Given the description of an element on the screen output the (x, y) to click on. 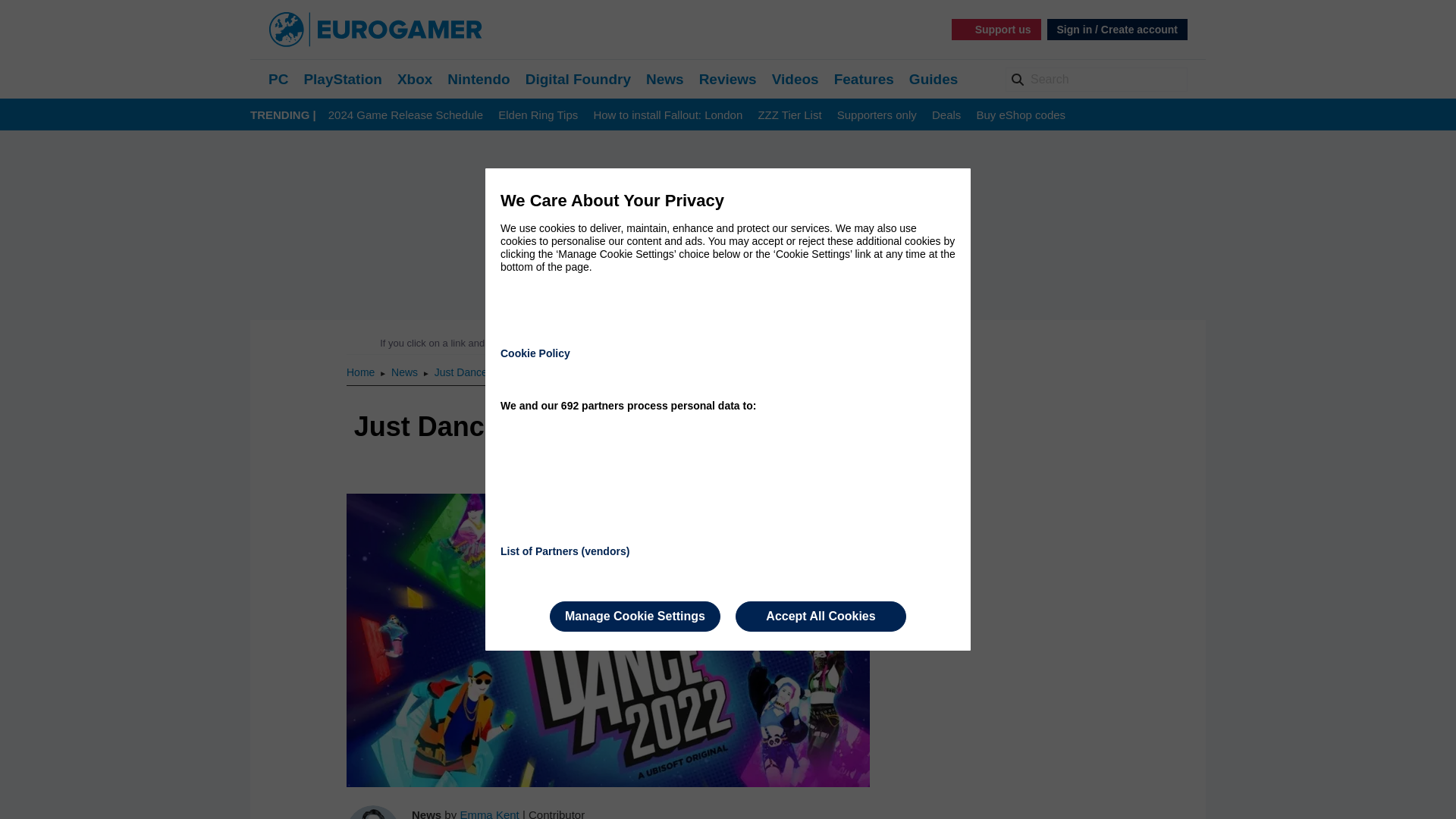
Elden Ring Tips (537, 114)
Digital Foundry (577, 78)
Support us (996, 29)
2024 Game Release Schedule (406, 114)
Home (361, 372)
ZZZ Tier List (789, 114)
News (665, 78)
Videos (794, 78)
Elden Ring Tips (537, 114)
Reviews (727, 78)
Features (863, 78)
Just Dance 2022 (473, 372)
PlayStation (341, 78)
Deals (945, 114)
Guides (933, 78)
